Given the description of an element on the screen output the (x, y) to click on. 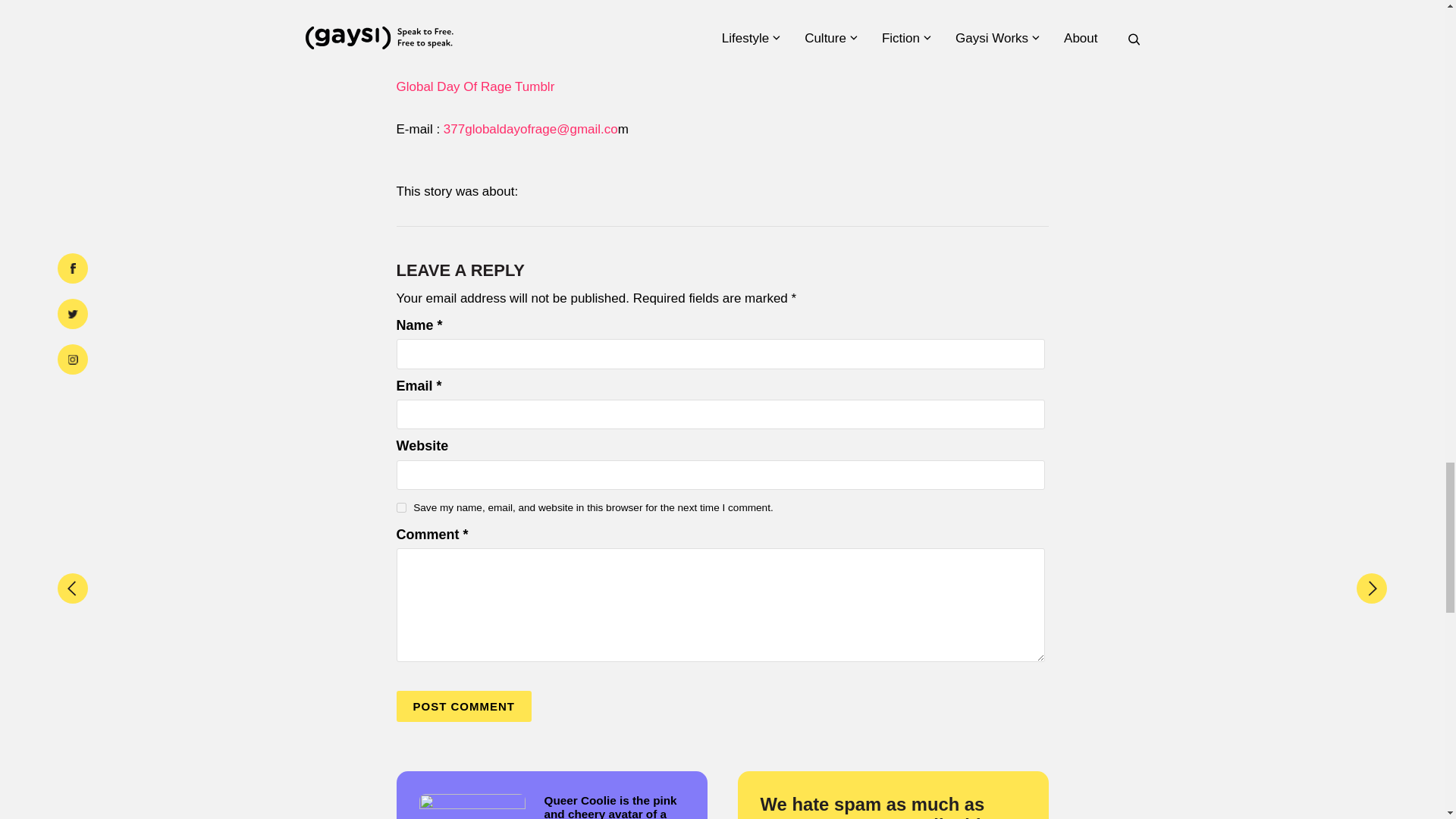
Post Comment (463, 706)
yes (401, 507)
